Given the description of an element on the screen output the (x, y) to click on. 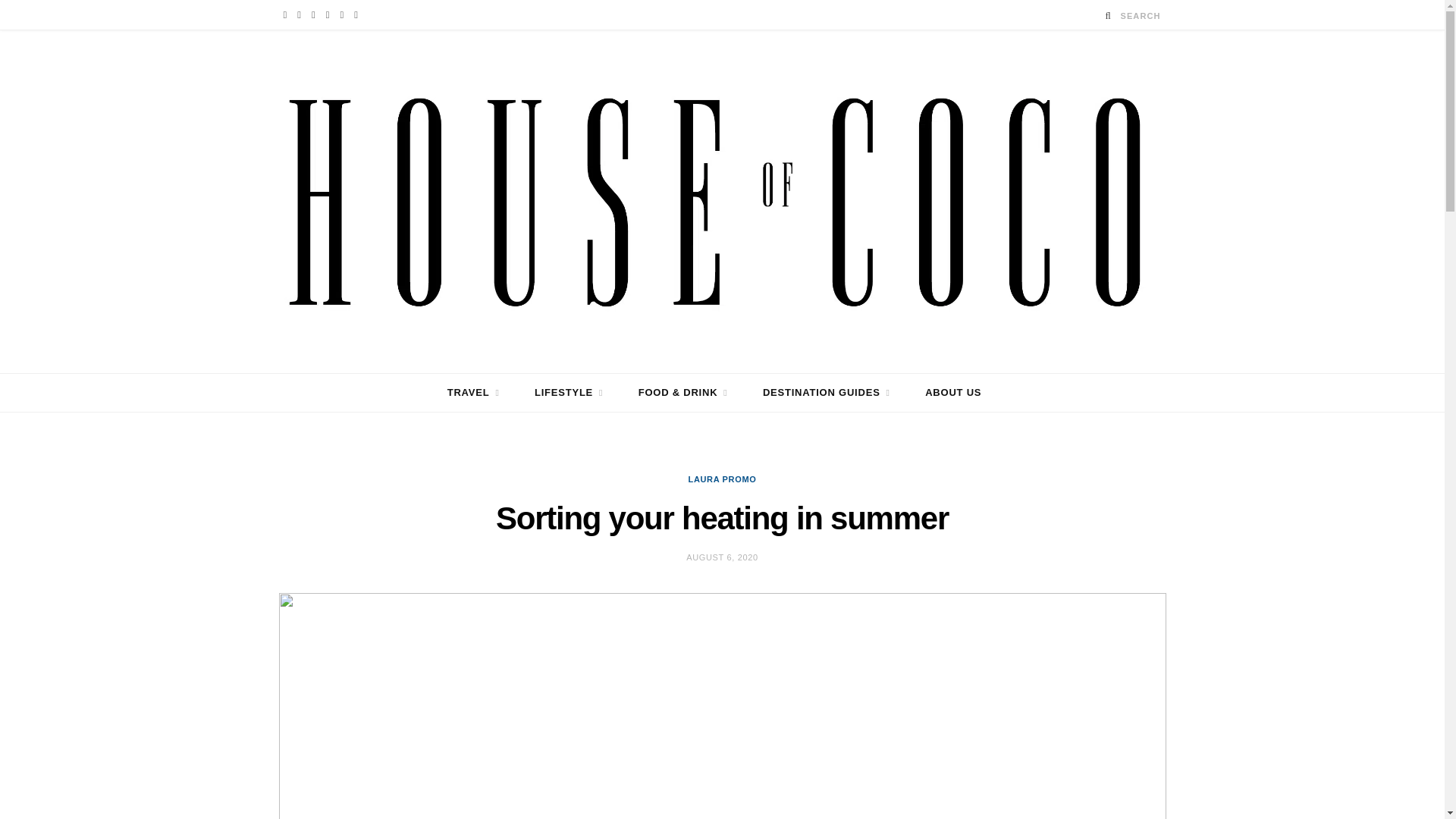
TRAVEL (472, 392)
